Given the description of an element on the screen output the (x, y) to click on. 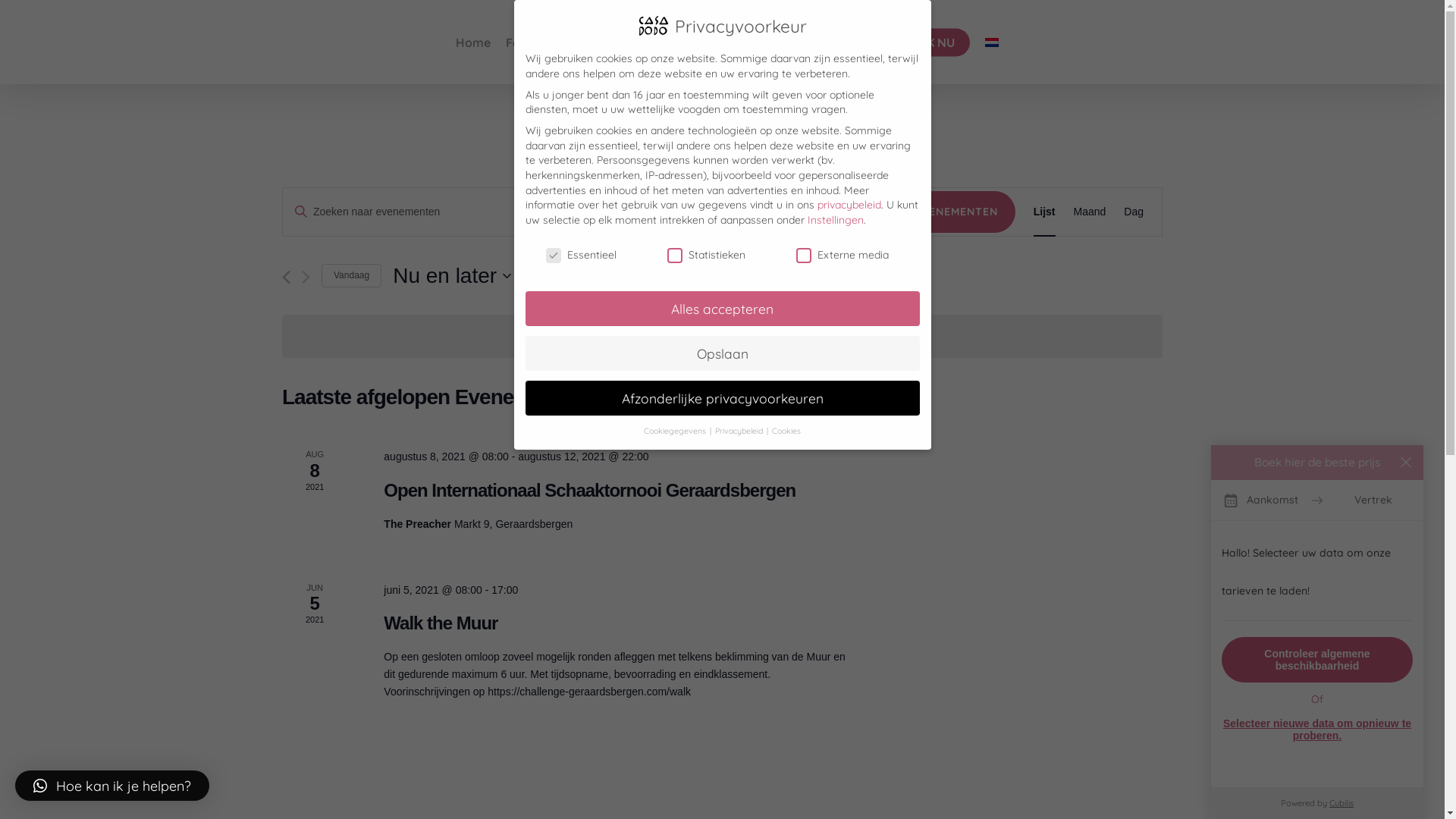
Walk the Muur Element type: text (440, 622)
Maand Element type: text (1089, 211)
Wandelroutes Element type: text (358, 465)
Nu en later Element type: text (451, 275)
Controleer algemene beschikbaarheid Element type: text (1316, 659)
Cookiegegevens Element type: text (675, 430)
+32 471 33 22 42 Element type: text (1062, 450)
BOEK NU Element type: text (361, 646)
Home Element type: text (472, 42)
Faciliteiten Element type: text (361, 346)
Open Internationaal Schaaktornooi Geraardsbergen Element type: text (589, 490)
Bezienswaardigheden Element type: text (342, 568)
Instellingen Element type: text (834, 219)
Fietsen Element type: text (342, 493)
Lijst Element type: text (1044, 211)
BOEK NU Element type: text (928, 42)
Wandelen Element type: text (342, 443)
Privacybeleid Element type: text (740, 430)
Algemene voorwaarden Element type: text (361, 794)
Faciliteiten Element type: text (544, 42)
In de buurt Element type: text (639, 42)
info@casadodo.be Element type: text (1021, 488)
Alles accepteren Element type: text (721, 308)
Cookiebeleid Element type: text (278, 794)
Arrangementen Element type: text (342, 543)
Volgende Evenementen Element type: hover (305, 276)
webdesign Element type: text (359, 778)
Privacybeleid Element type: text (483, 778)
Hoe kan ik je helpen? Element type: text (112, 785)
Contact Element type: text (361, 621)
In de buurt Element type: text (361, 421)
Vorige Evenementen Element type: hover (286, 276)
Kajakken Element type: text (342, 518)
Cubilis Element type: text (1341, 802)
Afzonderlijke privacyvoorkeuren Element type: text (721, 397)
Agenda Element type: text (361, 596)
Cookies Element type: text (785, 430)
Agenda Element type: text (788, 42)
Dag Element type: text (1133, 211)
Opslaan Element type: text (721, 352)
B2B Studio Element type: text (342, 393)
Contact Element type: text (848, 42)
Tevreden? Element type: text (1019, 533)
Selecteer nieuwe data om opnieuw te proberen. Element type: text (1316, 729)
privacybeleid Element type: text (849, 204)
ZOEK NAAR EVENEMENTEN Element type: text (920, 211)
Home Element type: text (361, 321)
Kamers Element type: text (342, 368)
Schrijf hier een review!  Element type: text (1076, 560)
Vandaag Element type: text (351, 275)
